Given the description of an element on the screen output the (x, y) to click on. 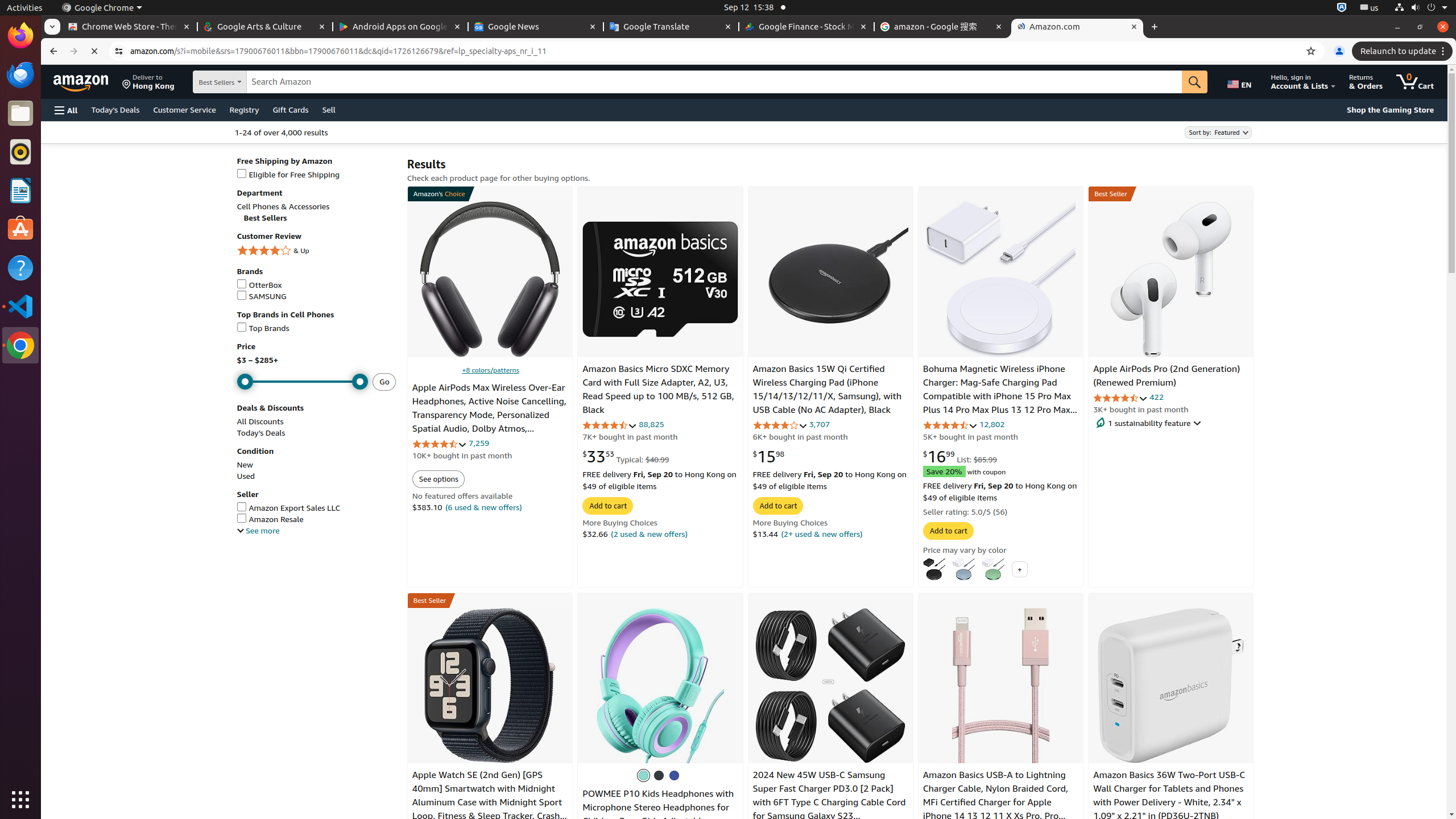
Go Element type: push-button (1194, 81)
Blue Element type: push-button (674, 775)
$16.99 List: $85.99 Element type: link (959, 455)
Today's Deals Element type: link (115, 109)
$33.53 Typical: $40.99 Element type: link (625, 455)
